Given the description of an element on the screen output the (x, y) to click on. 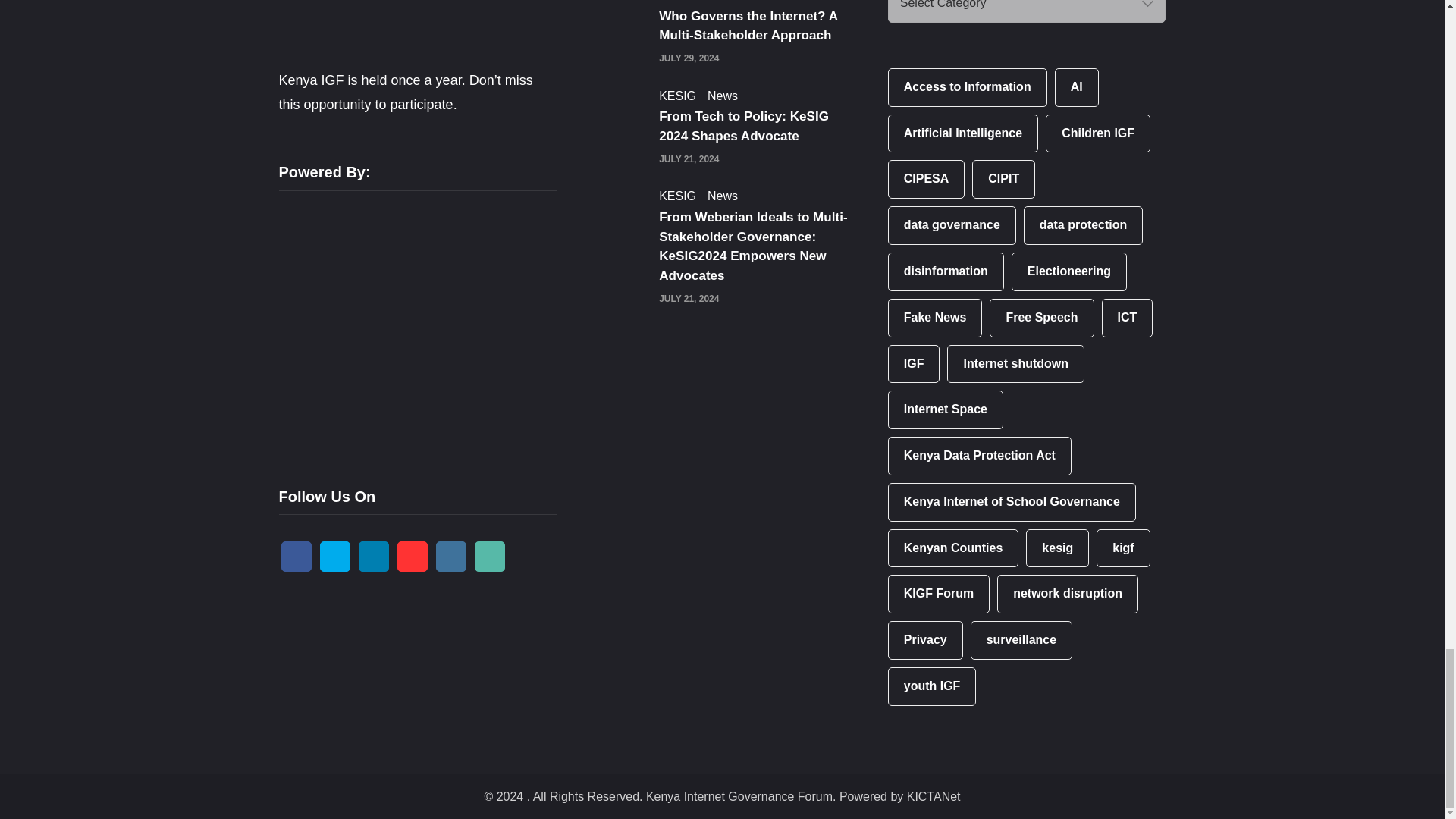
facebook (296, 556)
Powered By: (392, 326)
tiktok (489, 556)
youtube (412, 556)
instagram (450, 556)
twitter (335, 556)
linkedin (373, 556)
